Given the description of an element on the screen output the (x, y) to click on. 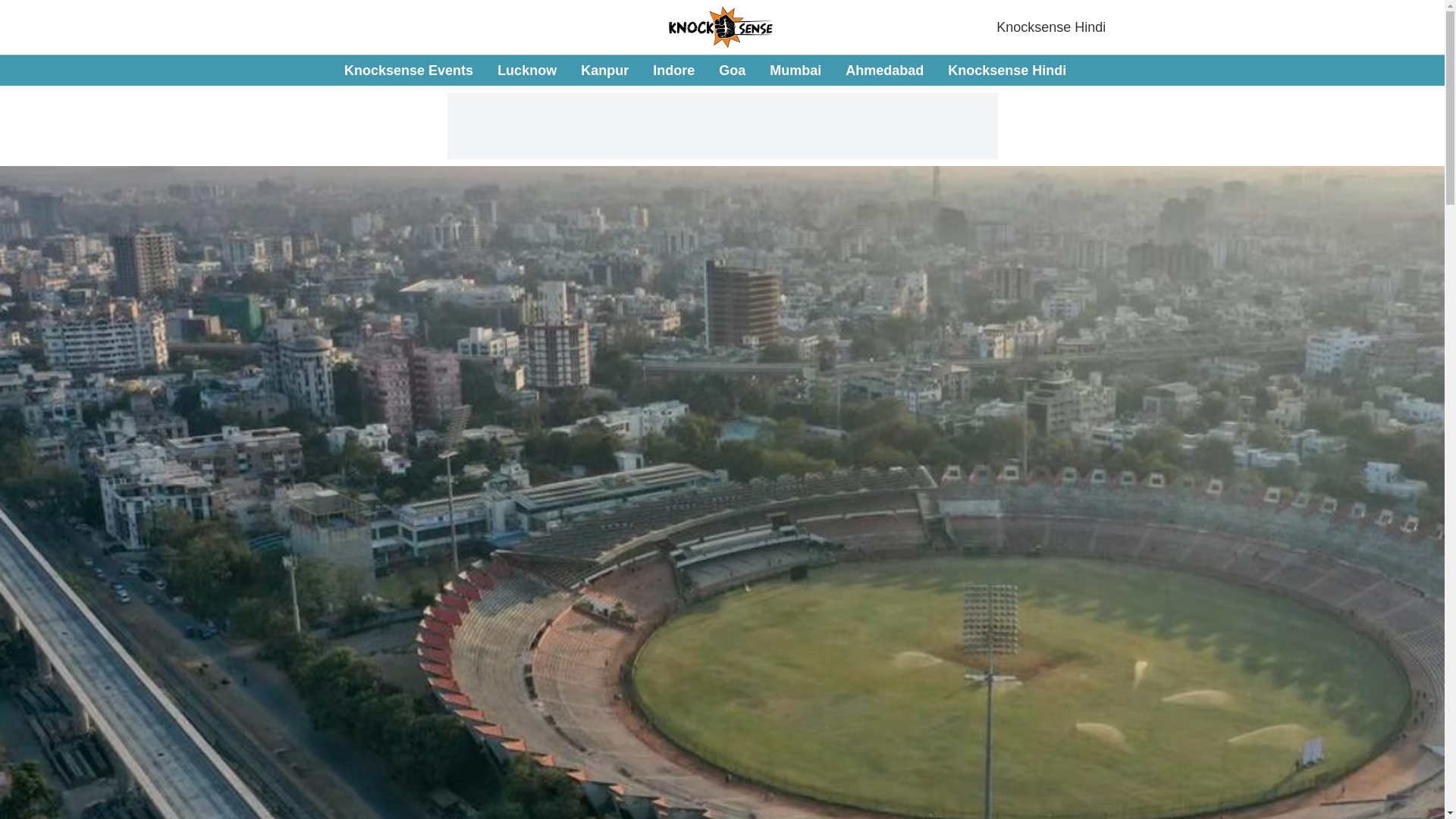
Dark Mode (1415, 70)
Knocksense Hindi (1006, 70)
Indore (673, 70)
Kanpur (604, 70)
Ahmedabad (884, 70)
Mumbai (795, 70)
Lucknow (526, 70)
Knocksense Hindi (1050, 27)
Knocksense Events (408, 70)
Goa (732, 70)
